Given the description of an element on the screen output the (x, y) to click on. 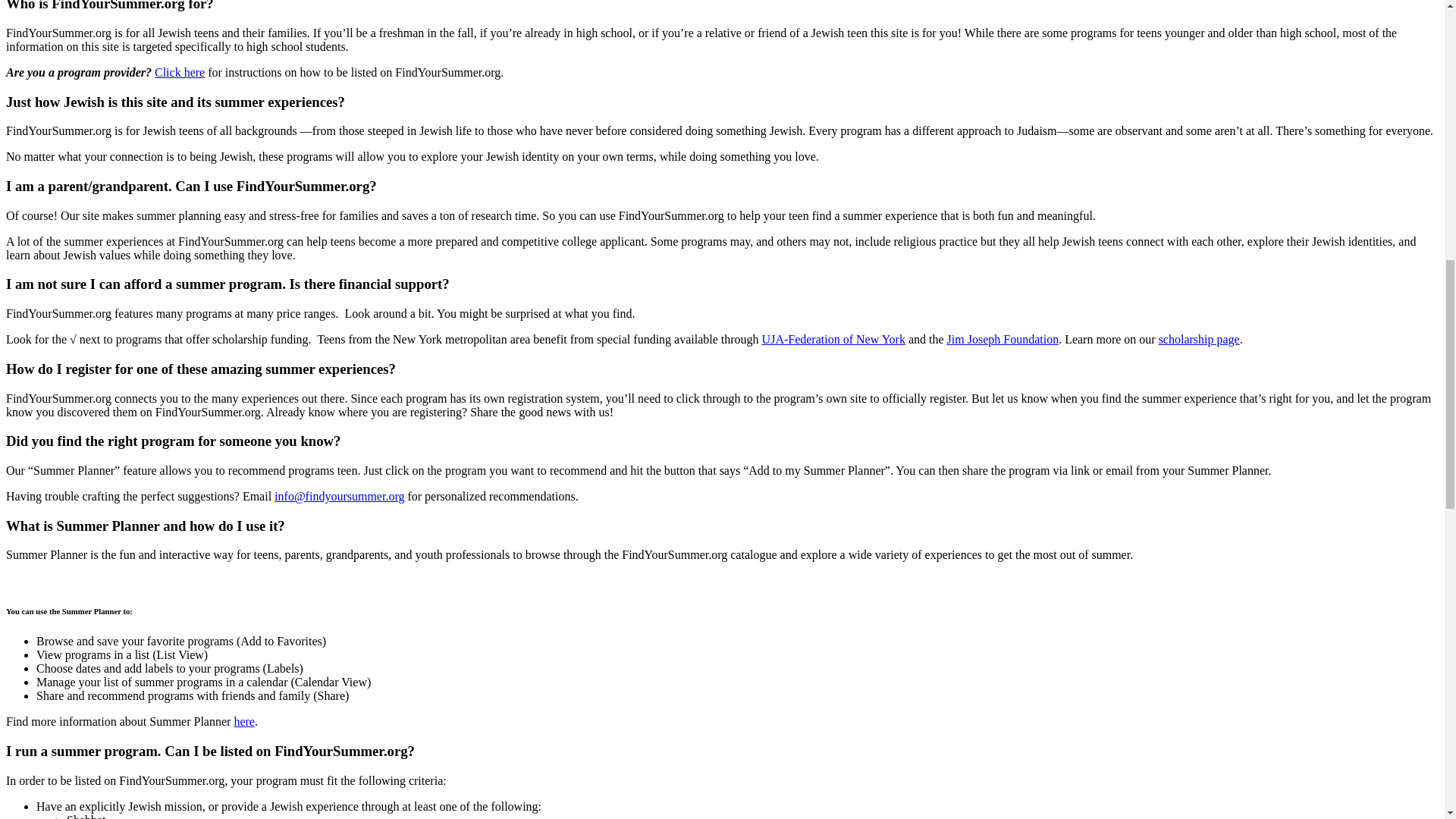
Jim Joseph Foundation (1003, 338)
UJA-Federation of New York (833, 338)
Click here (179, 72)
scholarship page (1199, 338)
